Given the description of an element on the screen output the (x, y) to click on. 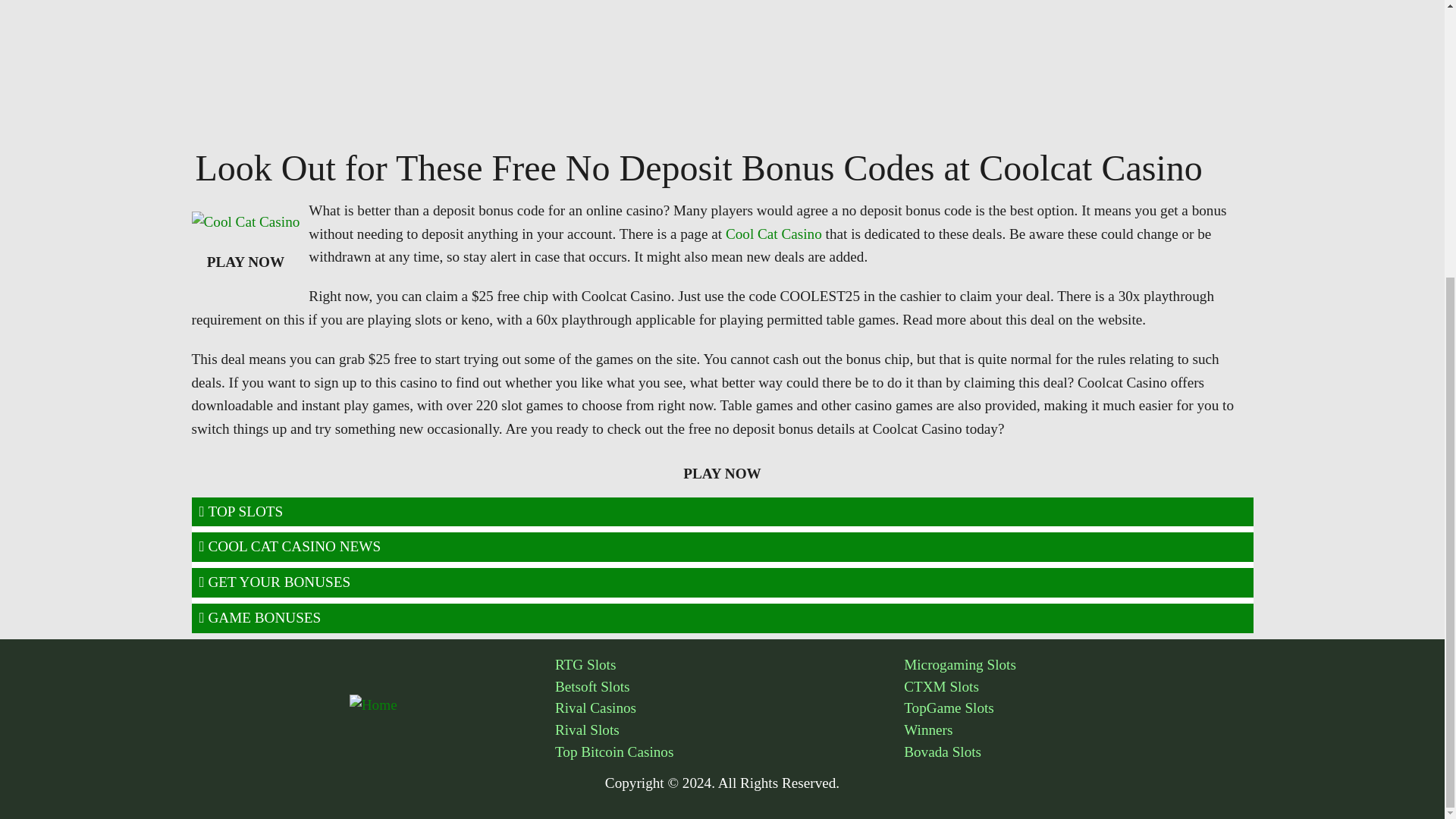
TopGame Slots (1078, 708)
Microgaming Slots (1078, 665)
Betsoft Slots (729, 687)
Bovada Slots (1078, 752)
PLAY NOW (245, 262)
Winners (1078, 730)
Rival Slots (729, 730)
Cool Cat Casino (773, 233)
CTXM Slots (1078, 687)
Top Bitcoin Casinos (729, 752)
